Given the description of an element on the screen output the (x, y) to click on. 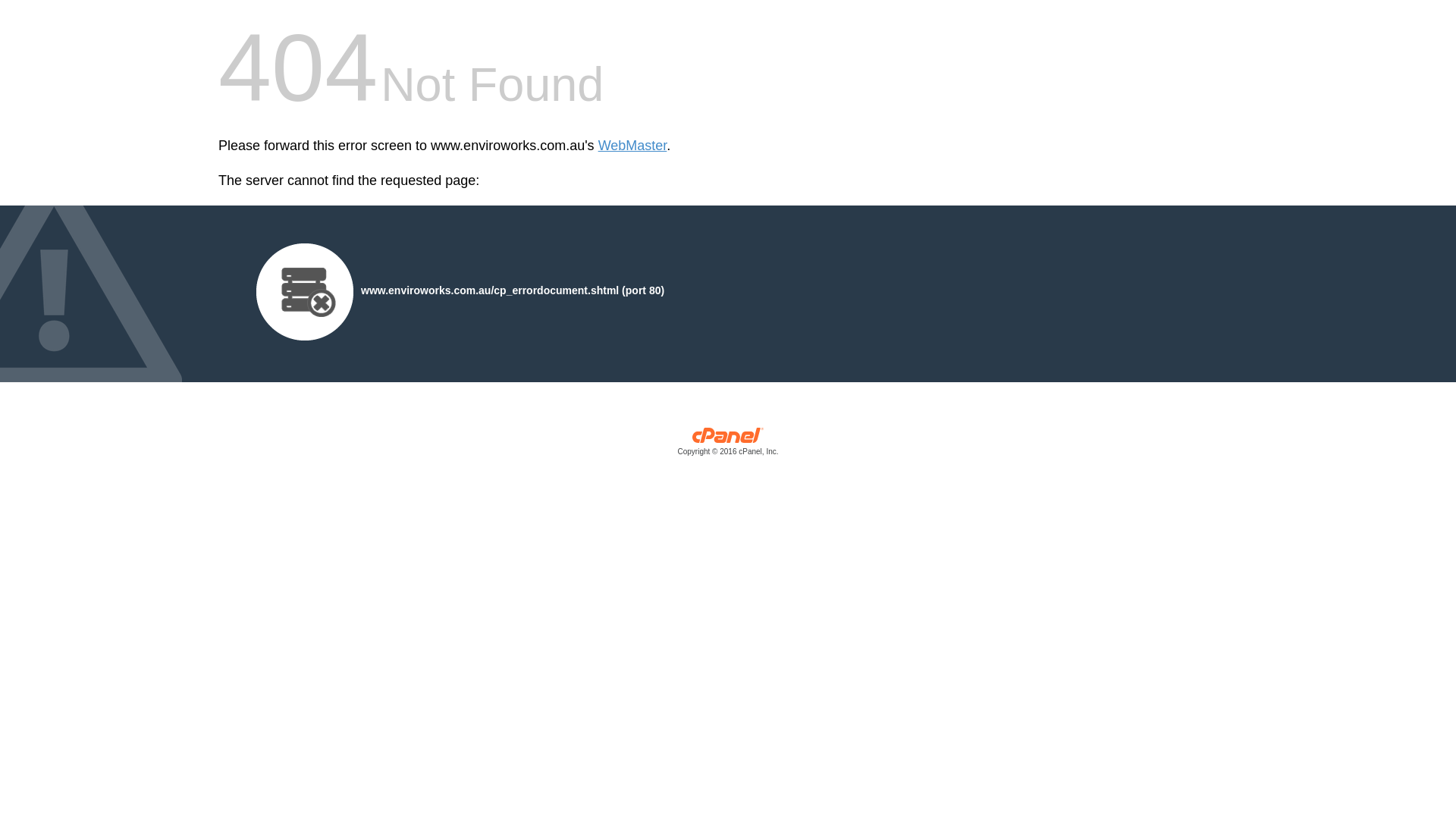
WebMaster Element type: text (632, 145)
